Given the description of an element on the screen output the (x, y) to click on. 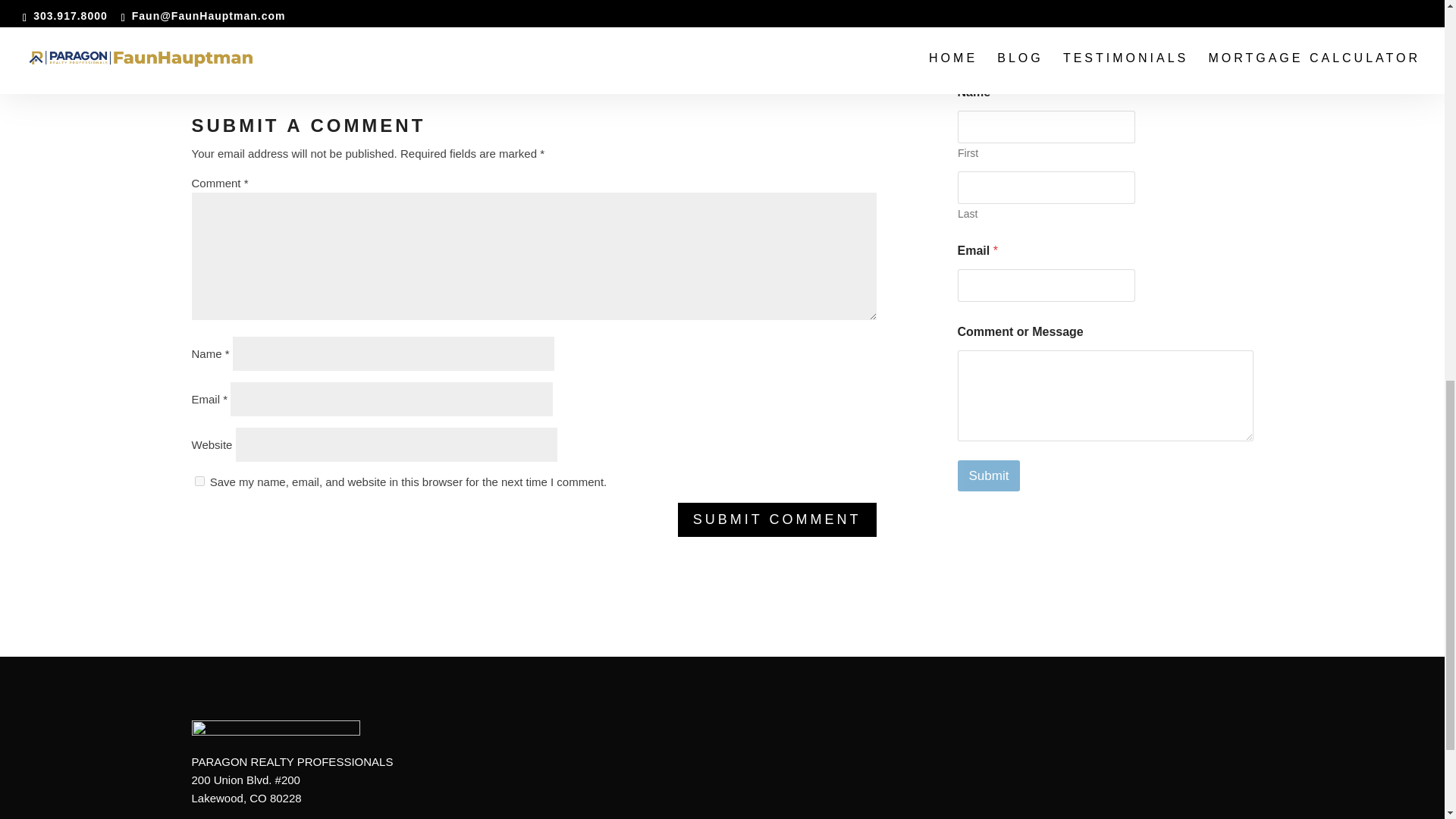
Submit Comment (777, 519)
Submit (988, 475)
Submit Comment (777, 519)
yes (198, 480)
